Given the description of an element on the screen output the (x, y) to click on. 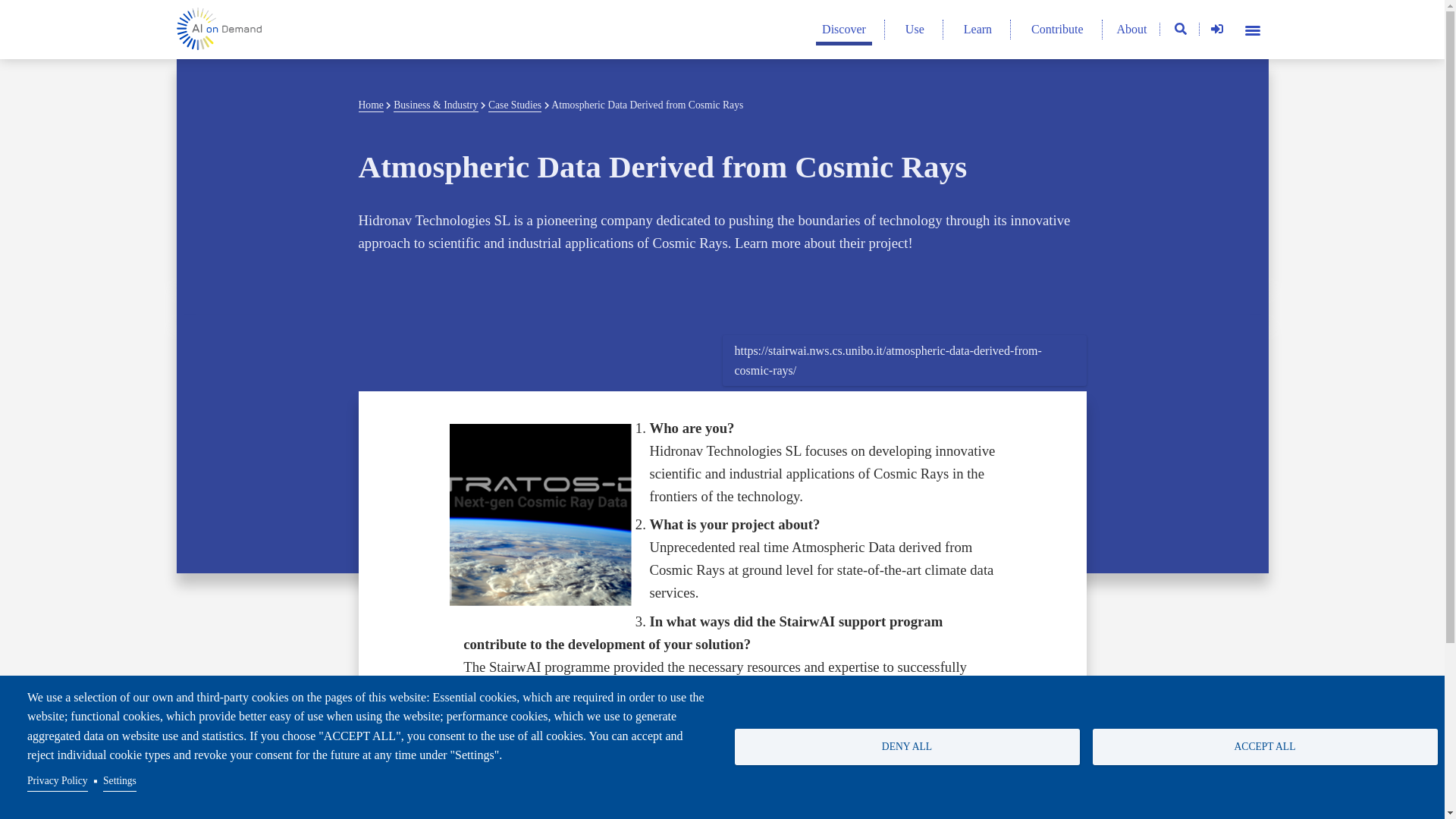
Menu (1251, 28)
